Given the description of an element on the screen output the (x, y) to click on. 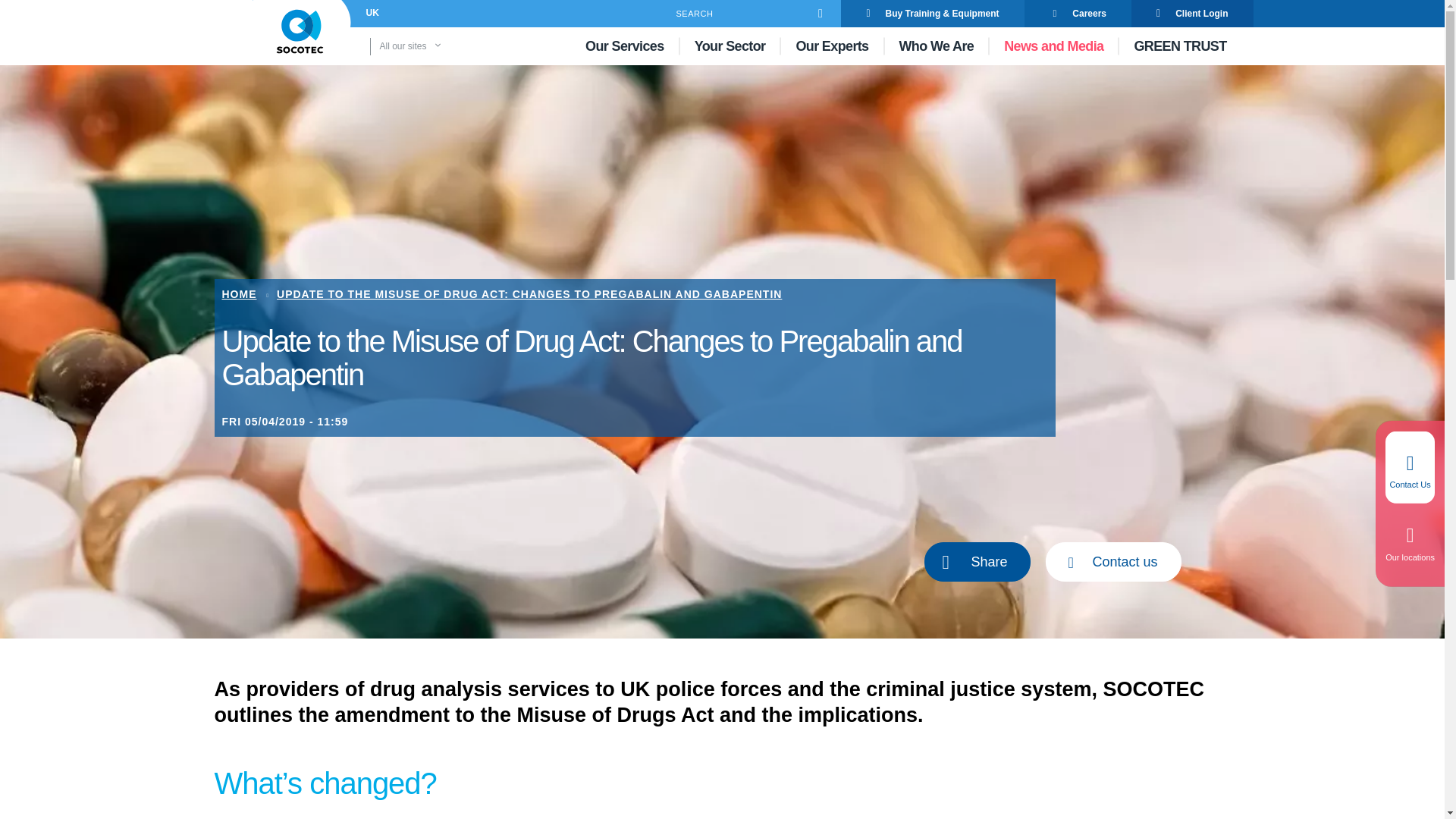
All our sites (430, 46)
Client Login (1191, 13)
Services (624, 46)
Our Services (624, 46)
Careers (1078, 13)
